Given the description of an element on the screen output the (x, y) to click on. 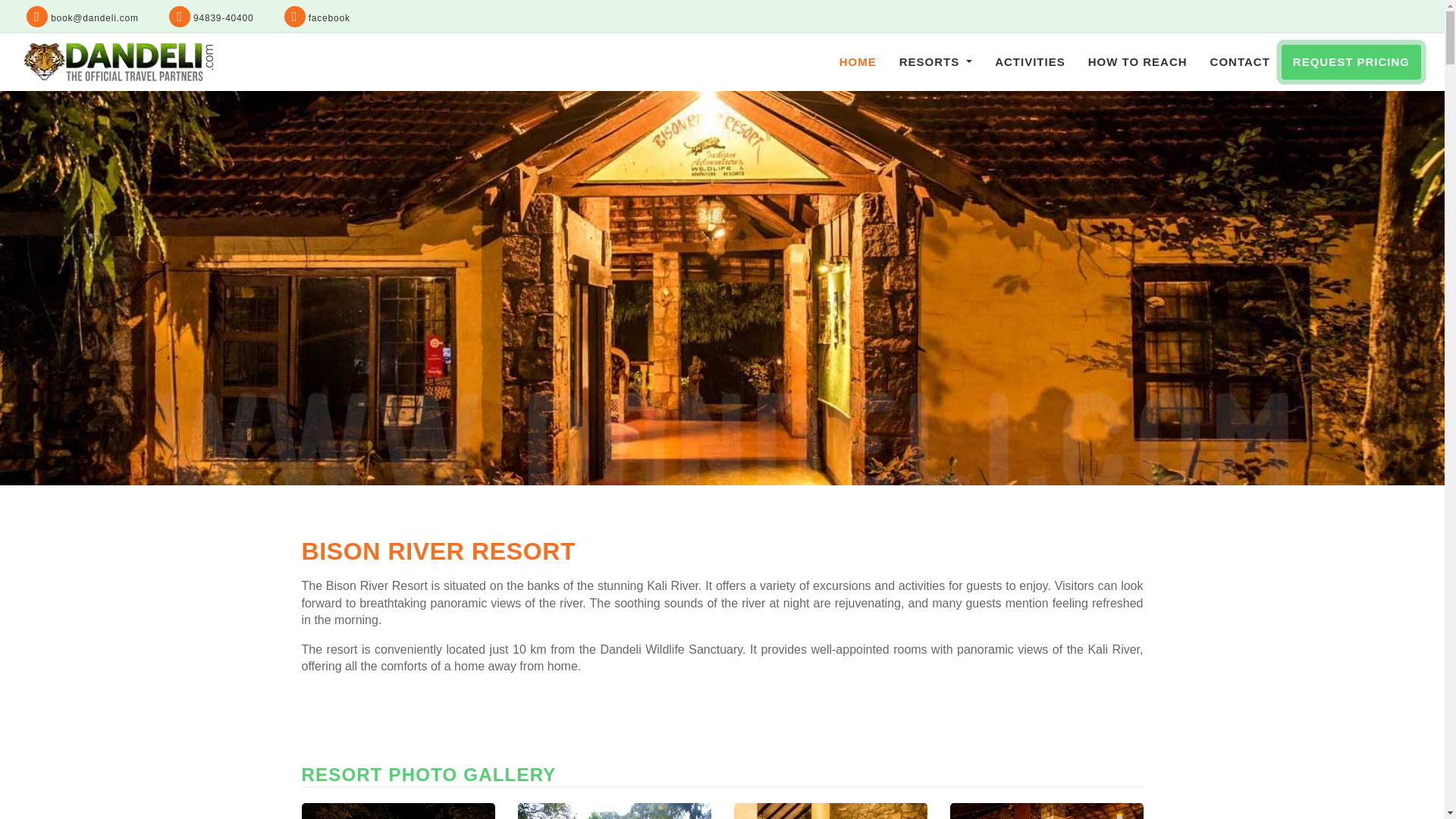
facebook (316, 18)
RESORTS (936, 62)
HOW TO REACH (1137, 62)
ACTIVITIES (1030, 62)
CONTACT (1239, 62)
REQUEST PRICING (1351, 62)
94839-40400 (210, 18)
HOME (858, 62)
